Given the description of an element on the screen output the (x, y) to click on. 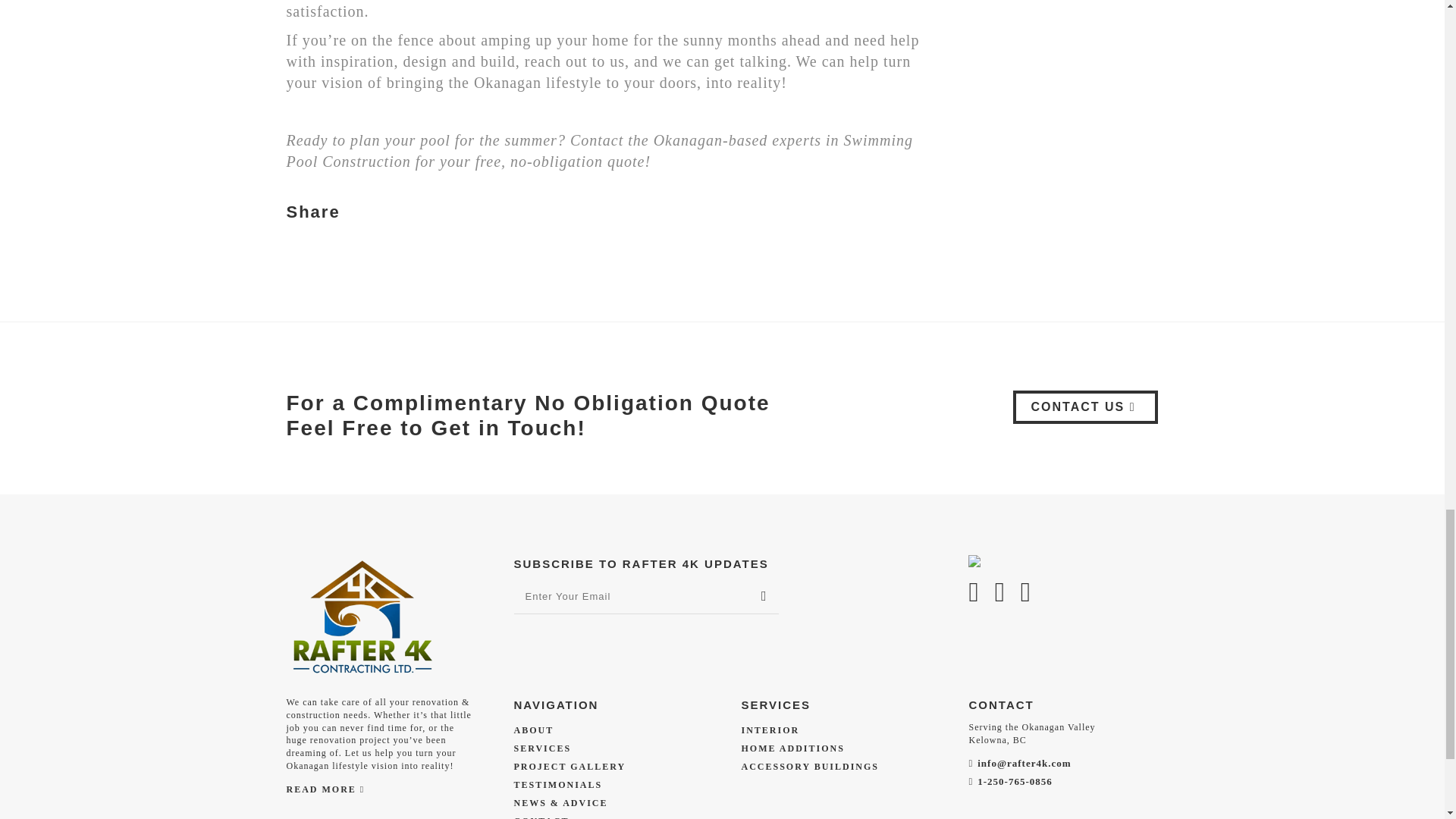
READ MORE (325, 790)
ABOUT (533, 729)
SERVICES (542, 747)
CONTACT US (1085, 407)
PROJECT GALLERY (569, 766)
